Given the description of an element on the screen output the (x, y) to click on. 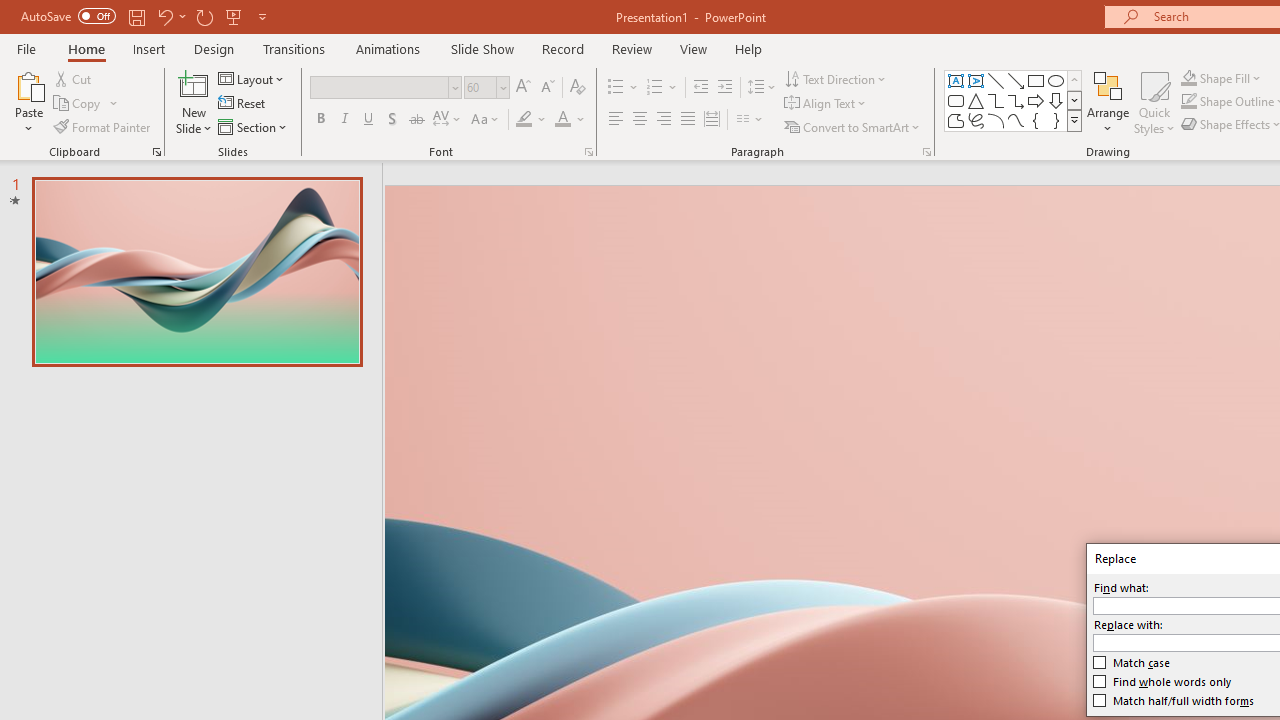
Find whole words only (1162, 681)
Shape Outline Blue, Accent 1 (1188, 101)
